Given the description of an element on the screen output the (x, y) to click on. 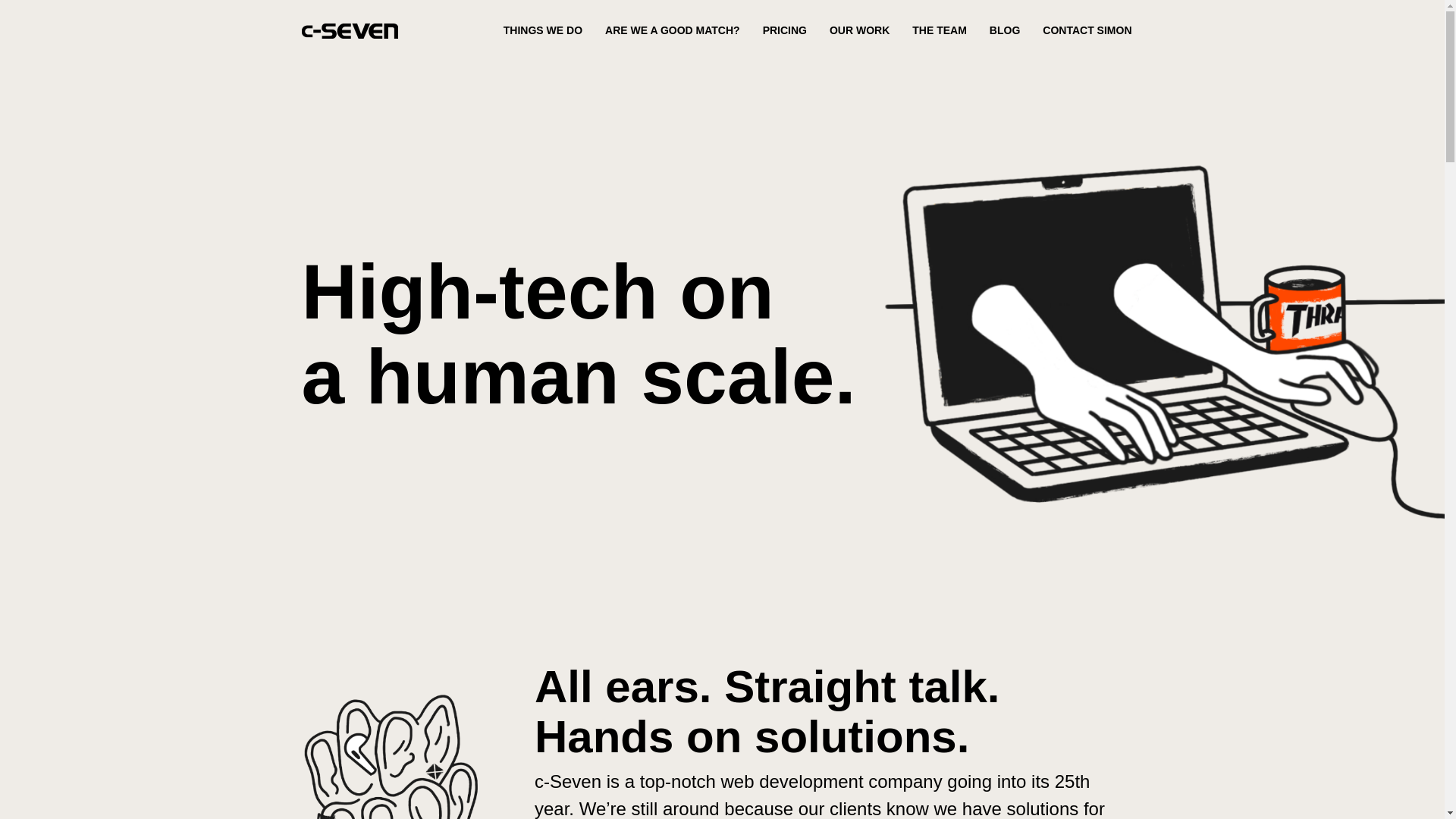
THE TEAM (939, 32)
CONTACT SIMON (1086, 32)
THINGS WE DO (542, 32)
BLOG (1005, 32)
PRICING (784, 32)
ARE WE A GOOD MATCH? (672, 32)
OUR WORK (859, 32)
